Given the description of an element on the screen output the (x, y) to click on. 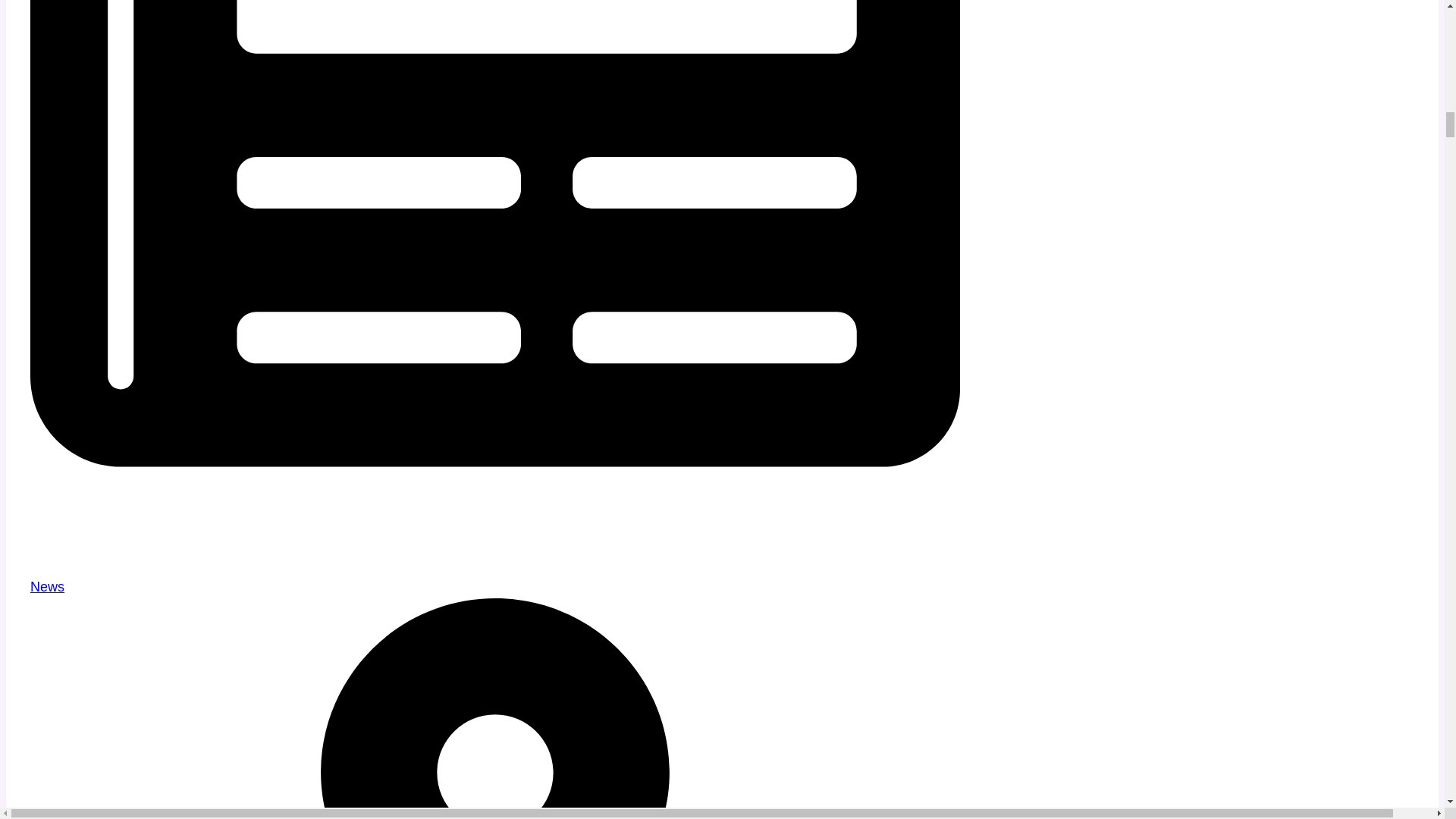
News (47, 586)
